Given the description of an element on the screen output the (x, y) to click on. 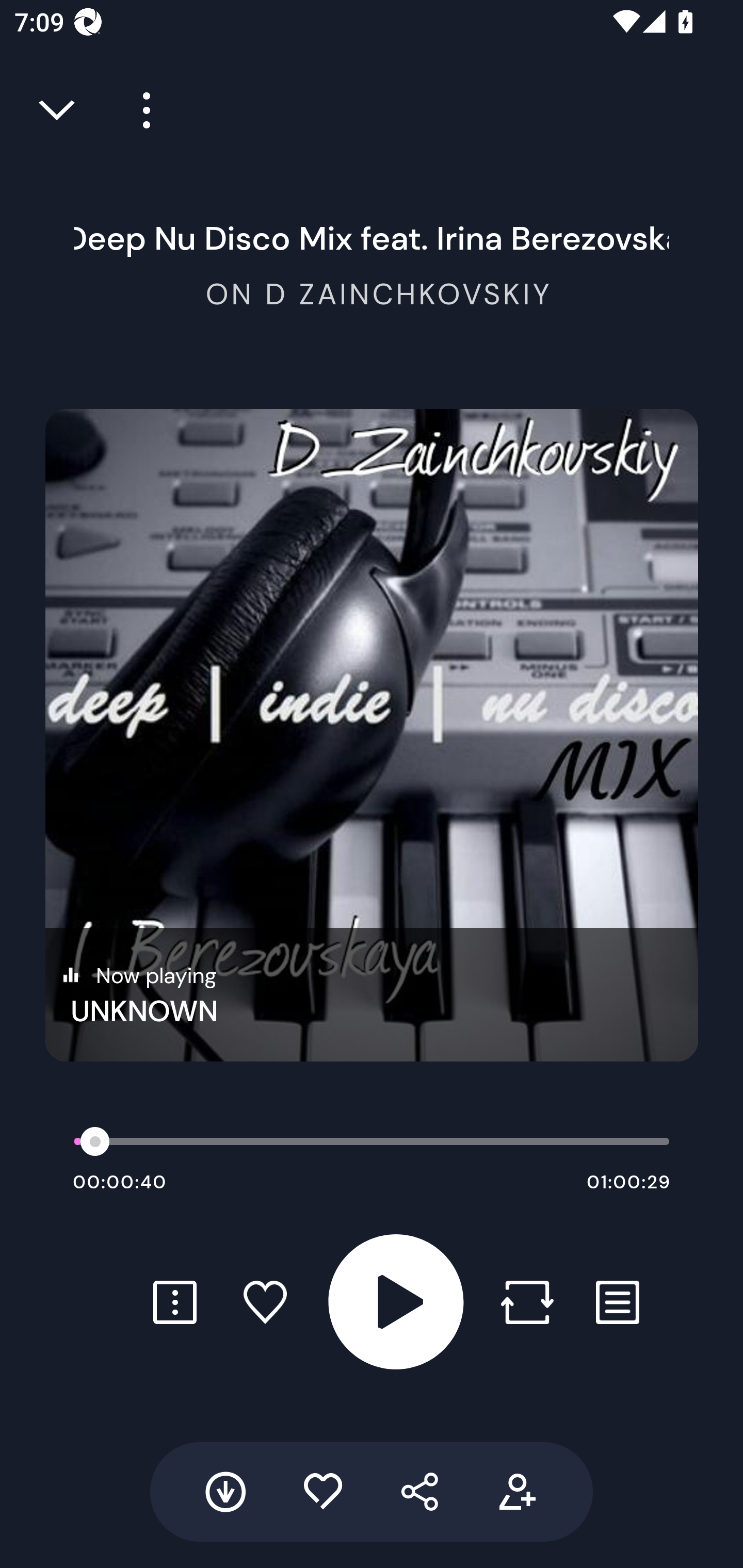
Close full player (58, 110)
Player more options button (139, 110)
Repost button (527, 1301)
